Given the description of an element on the screen output the (x, y) to click on. 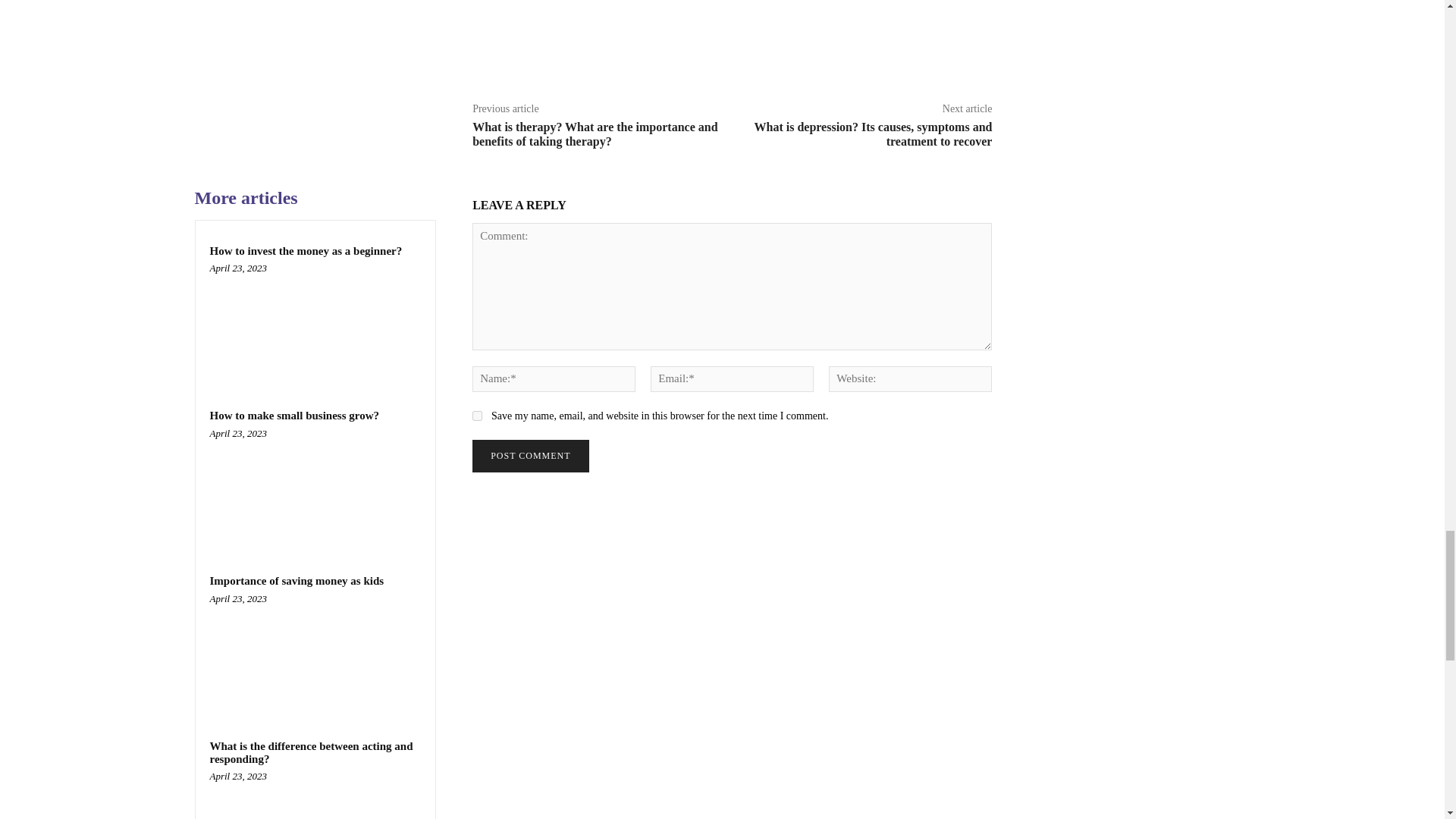
Post Comment (529, 455)
yes (476, 415)
